Given the description of an element on the screen output the (x, y) to click on. 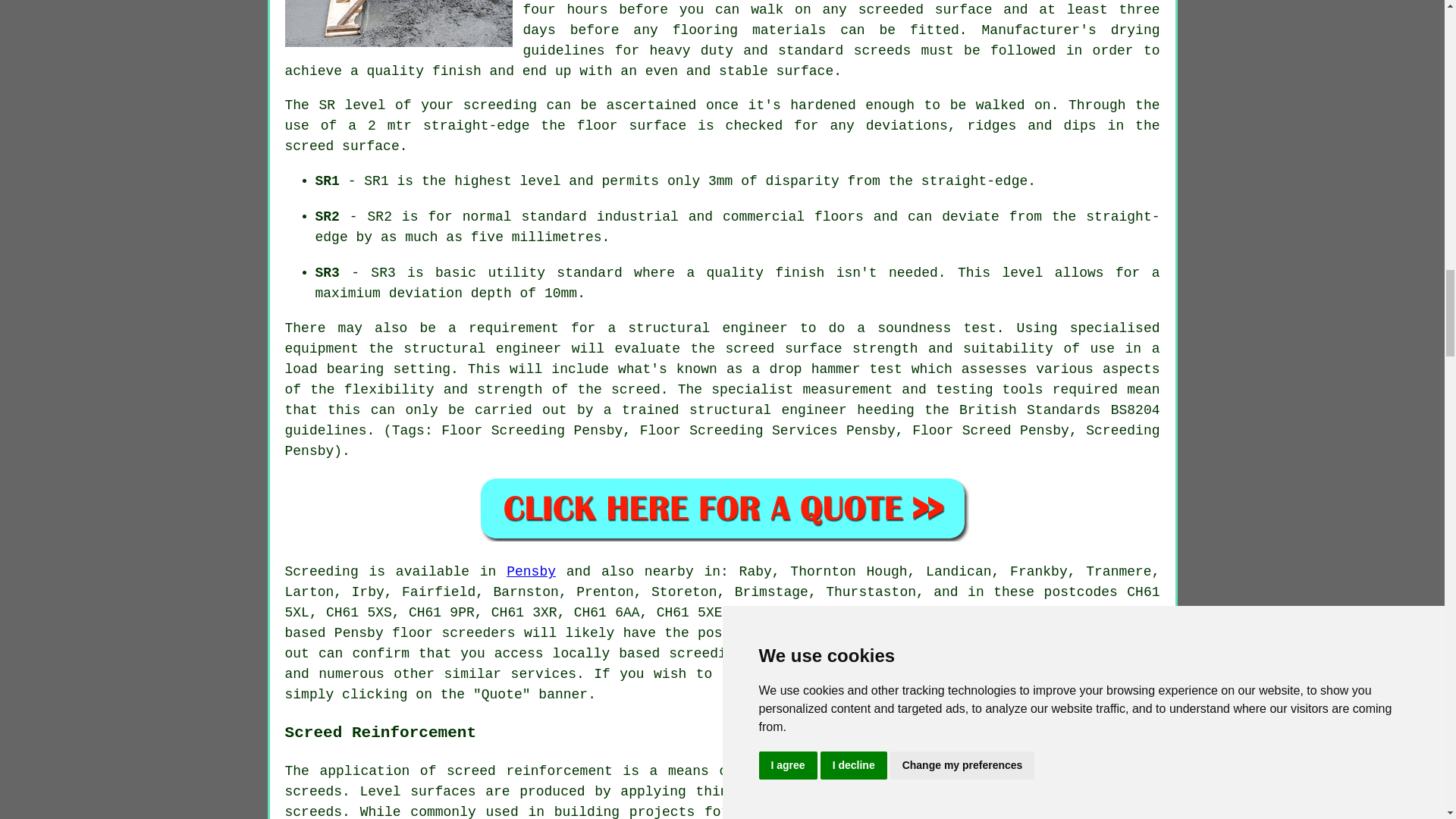
floor screeders (453, 632)
Book a Screeder in Pensby UK (722, 508)
screeding (705, 653)
